Given the description of an element on the screen output the (x, y) to click on. 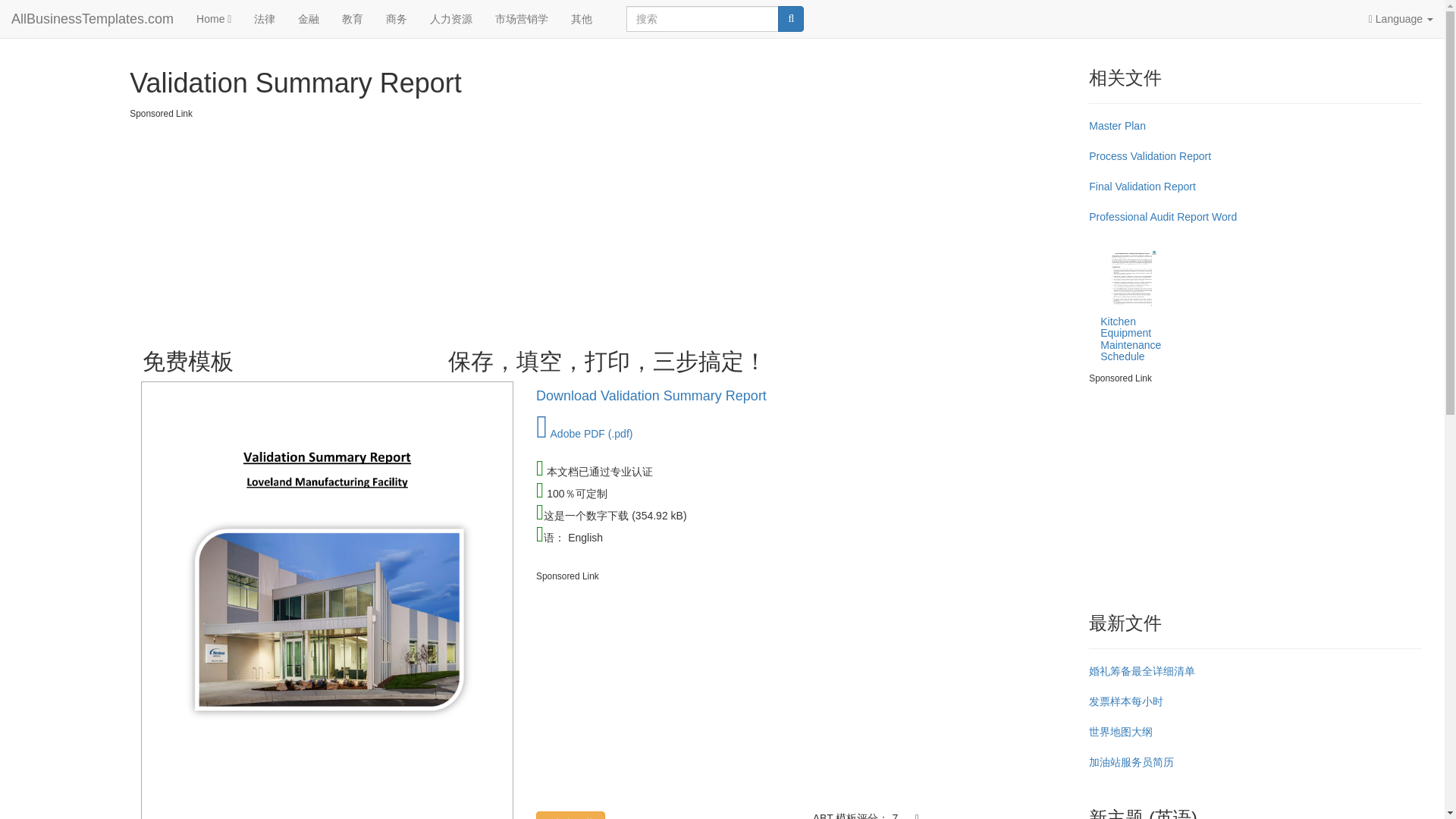
Home (213, 18)
Download Validation Summary Report (651, 395)
Advertisement (1255, 491)
Advertisement (800, 689)
AllBusinessTemplates.com (92, 18)
